Given the description of an element on the screen output the (x, y) to click on. 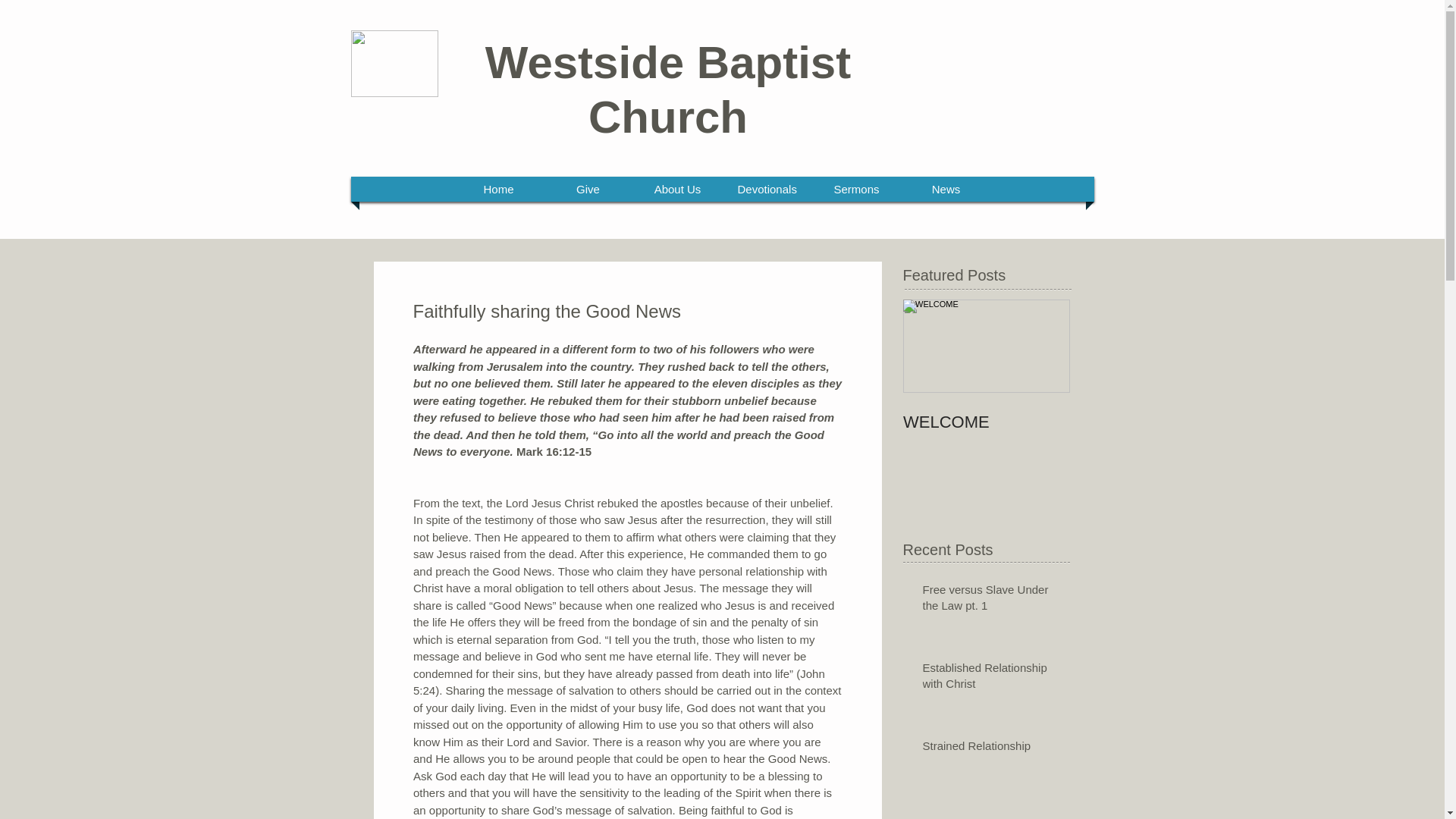
Warning of Being Enslaved by Legalism (990, 817)
Sermons (856, 188)
News (946, 188)
Established Relationship with Christ (990, 678)
Give (587, 188)
Devotionals (767, 188)
Home (499, 188)
WELCOME (985, 422)
Strained Relationship (990, 748)
About Us (678, 188)
Free versus Slave Under the Law pt. 1 (990, 600)
